Given the description of an element on the screen output the (x, y) to click on. 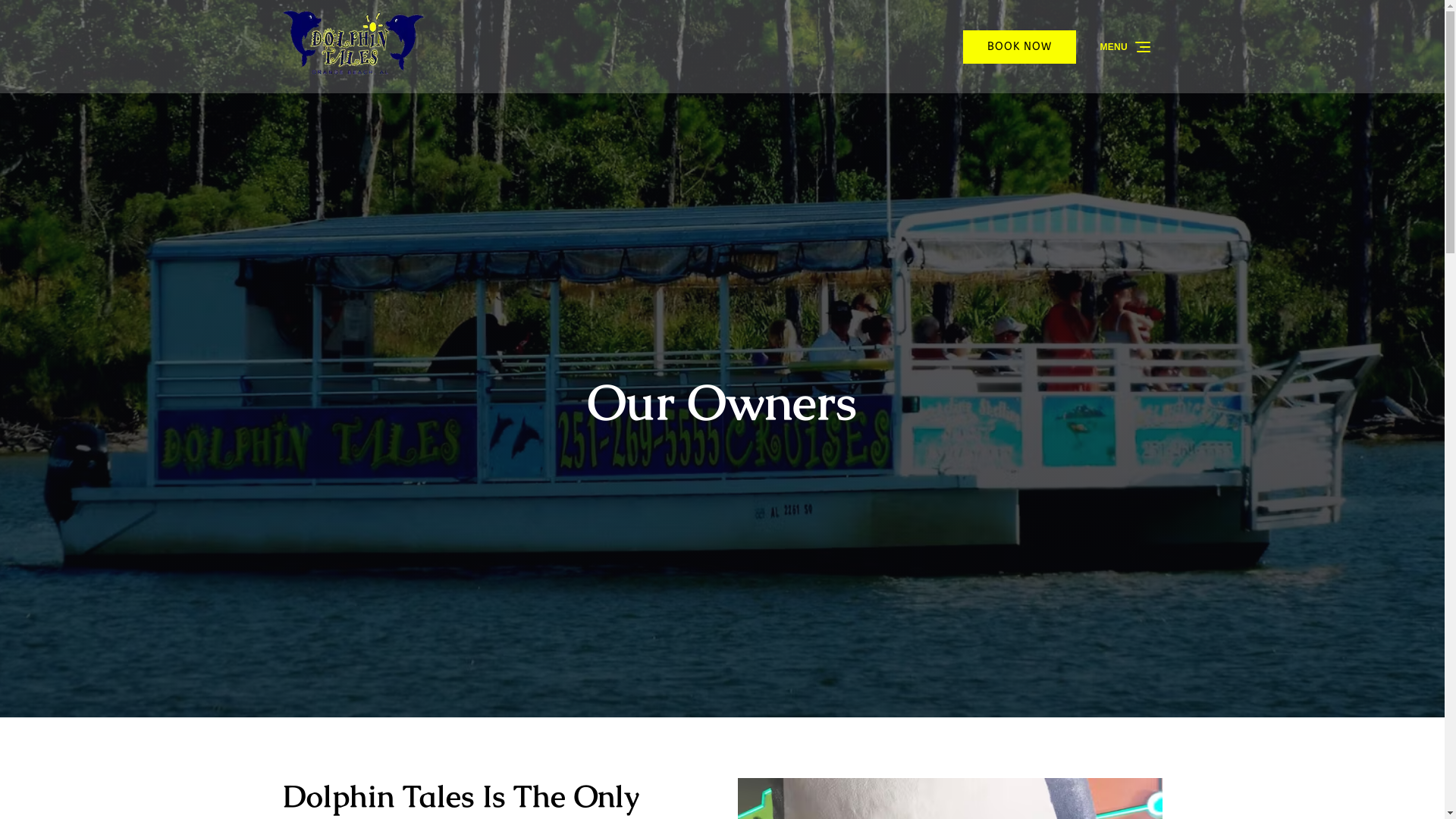
Skip to content Element type: text (50, 16)
MENU Element type: text (1126, 46)
Skip to footer Element type: text (46, 16)
BOOK NOW Element type: text (1019, 46)
Skip to primary navigation Element type: text (83, 16)
